Given the description of an element on the screen output the (x, y) to click on. 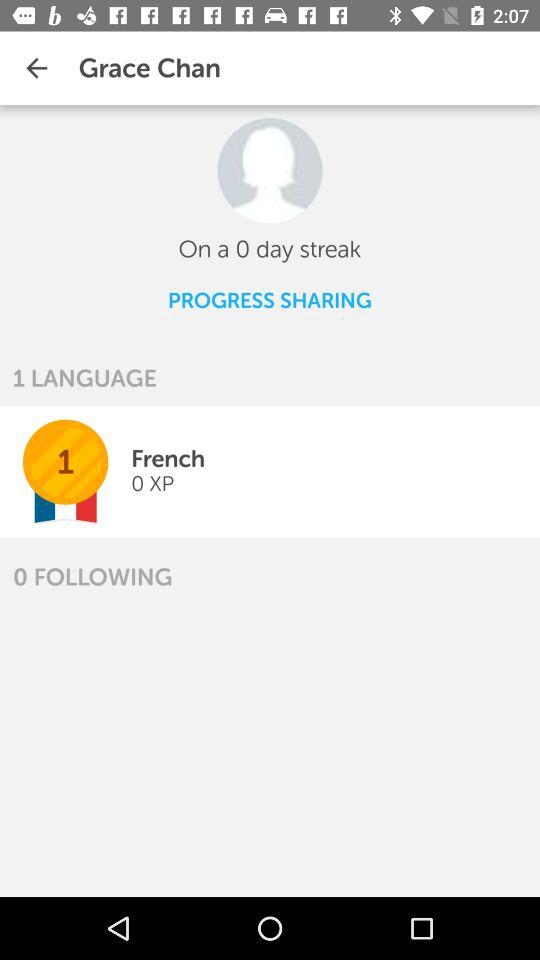
turn on icon next to 1 (152, 483)
